Given the description of an element on the screen output the (x, y) to click on. 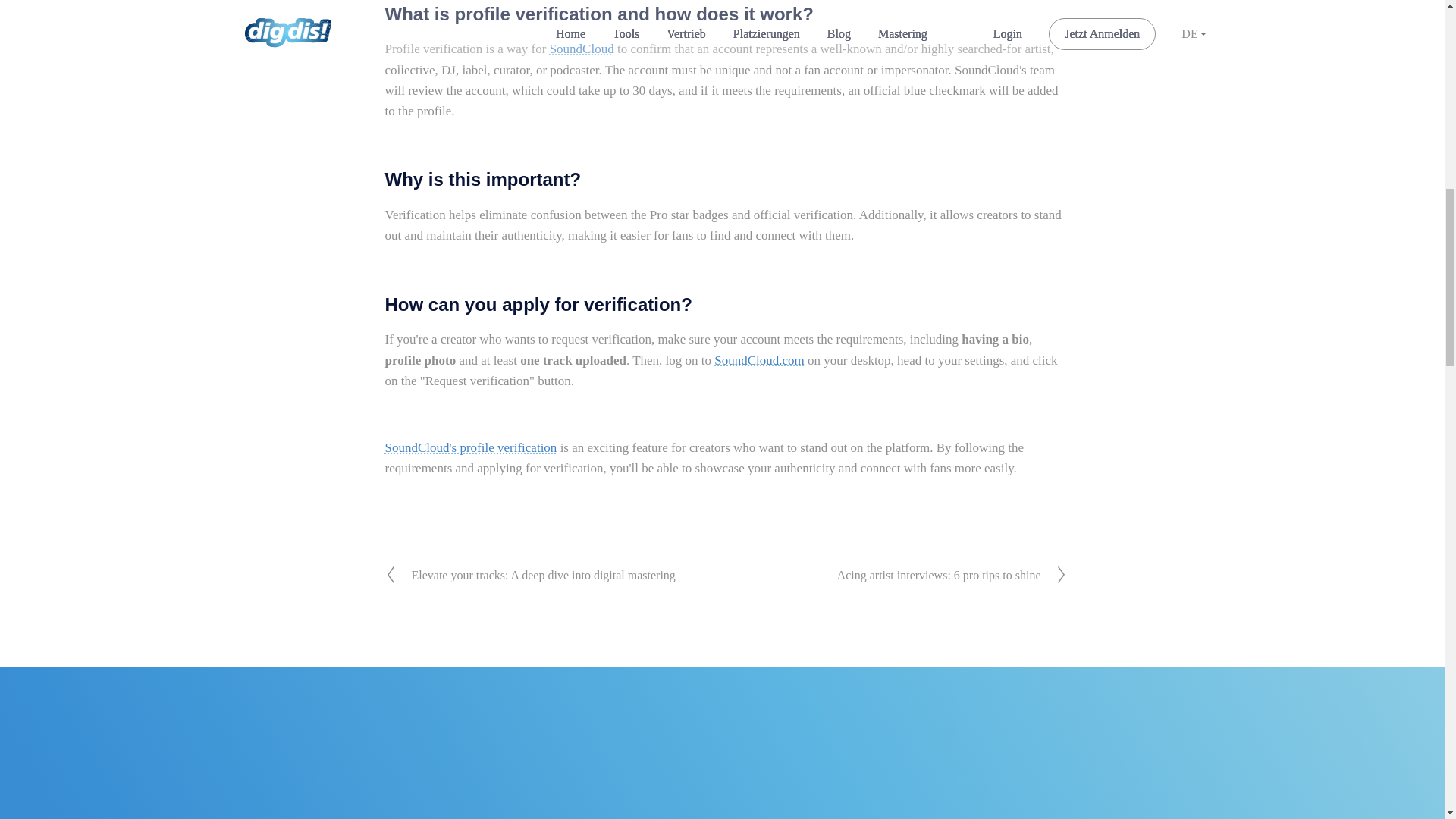
SoundCloud's profile verification (471, 447)
Acing artist interviews: 6 pro tips to shine (939, 574)
Elevate your tracks: A deep dive into digital mastering (542, 574)
SoundCloud.com (759, 359)
SoundCloud (582, 48)
